Given the description of an element on the screen output the (x, y) to click on. 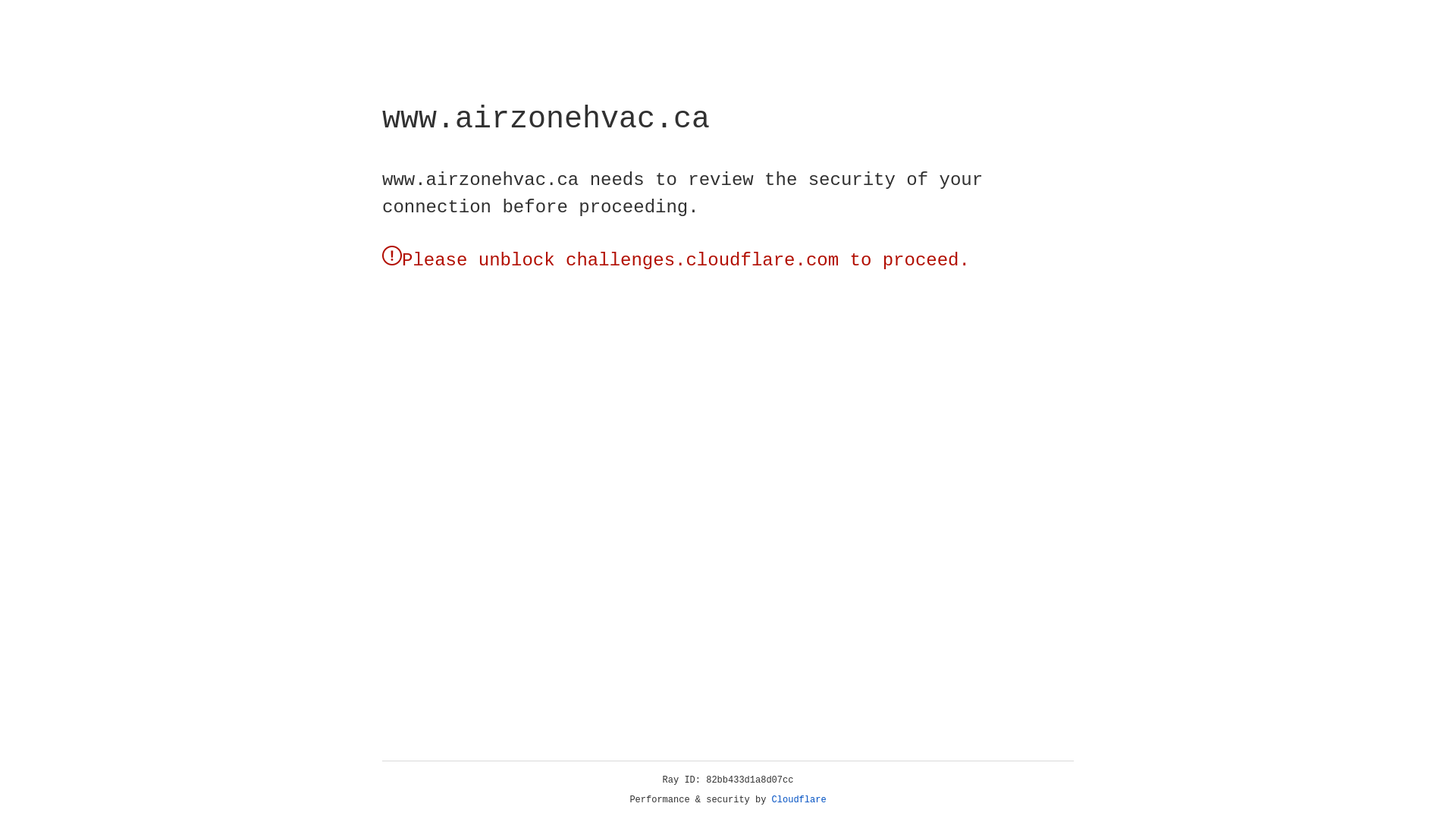
Cloudflare Element type: text (798, 799)
